Given the description of an element on the screen output the (x, y) to click on. 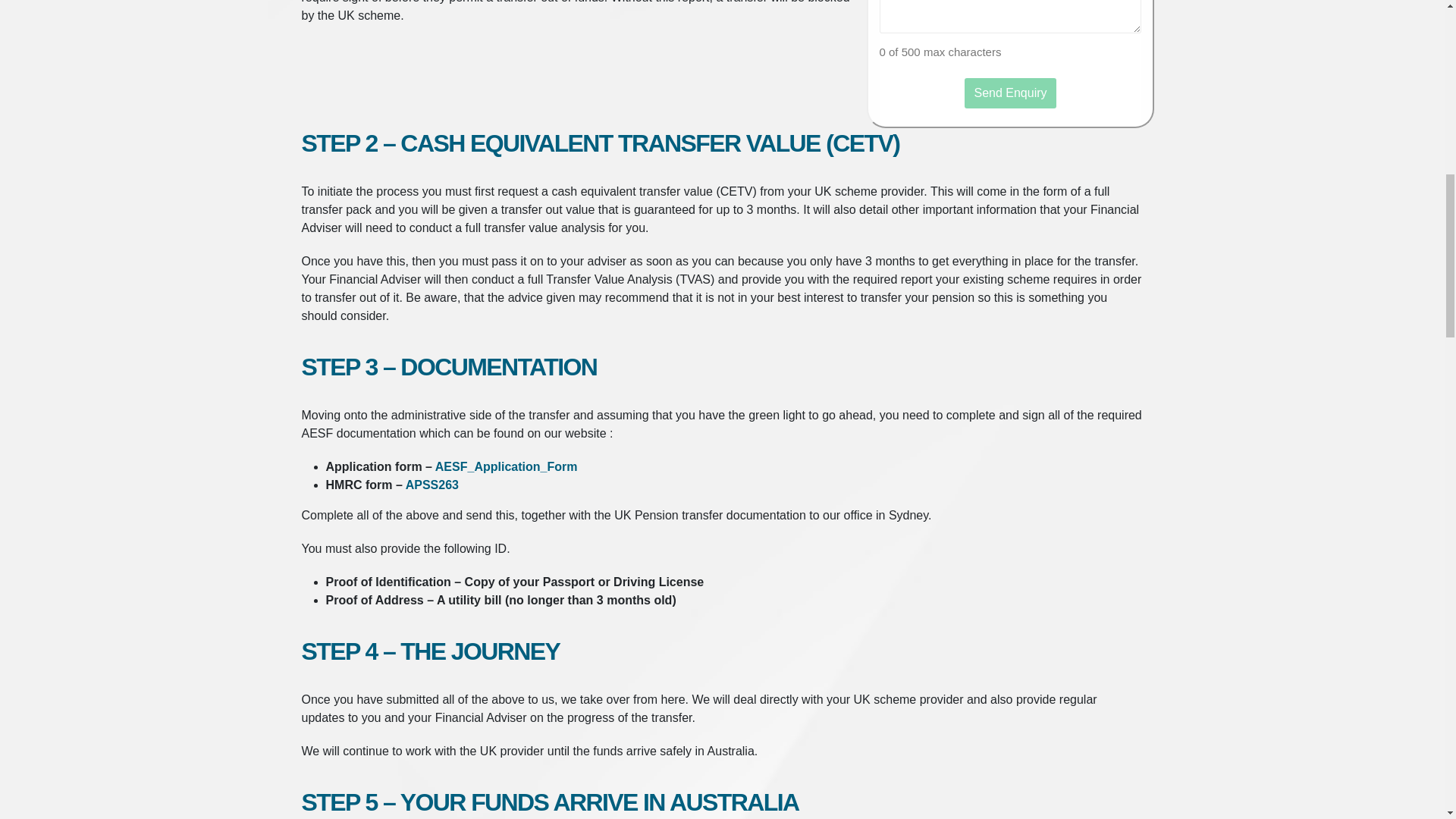
Send Enquiry (1009, 92)
